Given the description of an element on the screen output the (x, y) to click on. 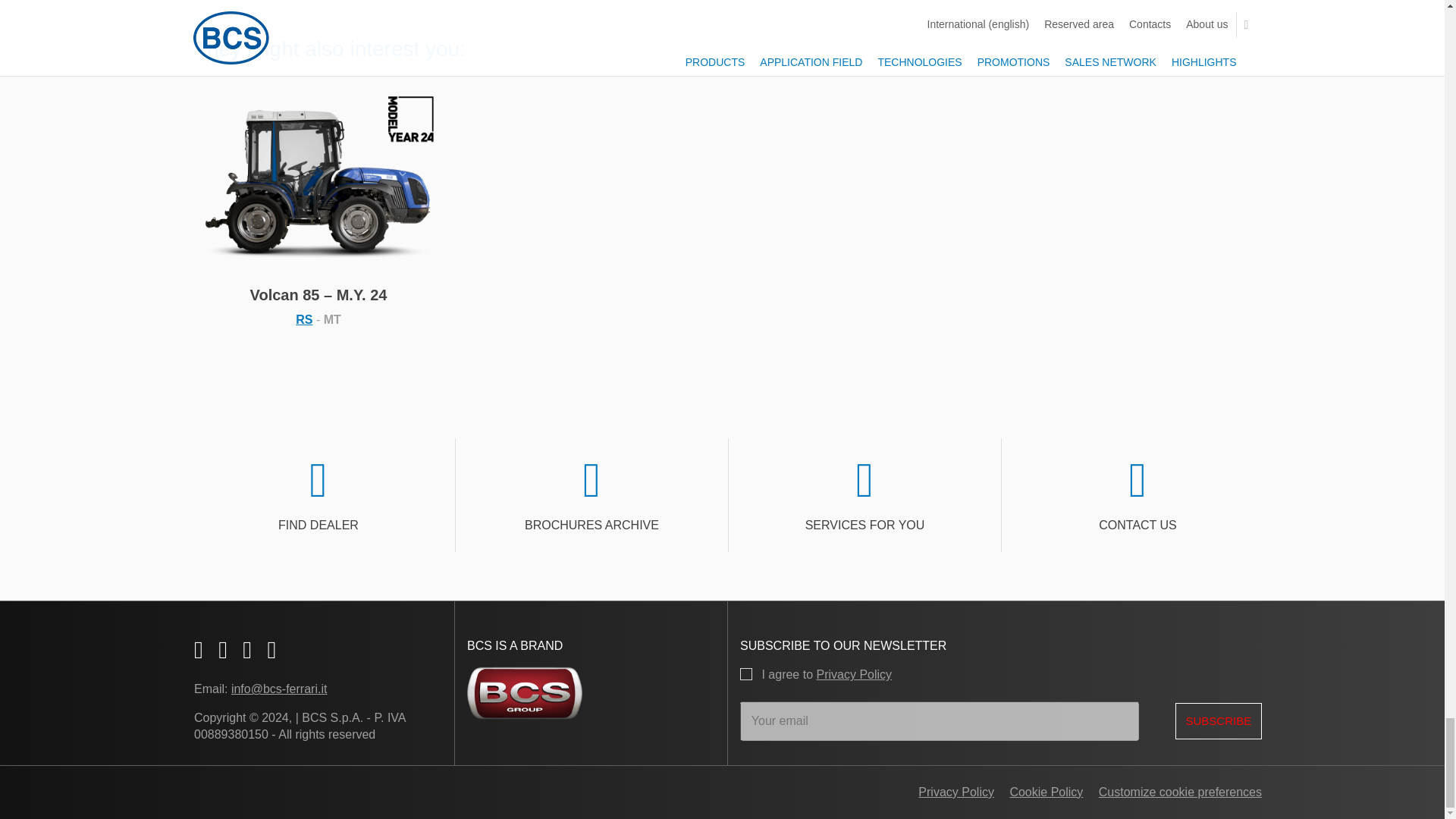
Privacy Policy (956, 791)
Privacy Policy (853, 674)
Cookie Policy  (1040, 791)
